Given the description of an element on the screen output the (x, y) to click on. 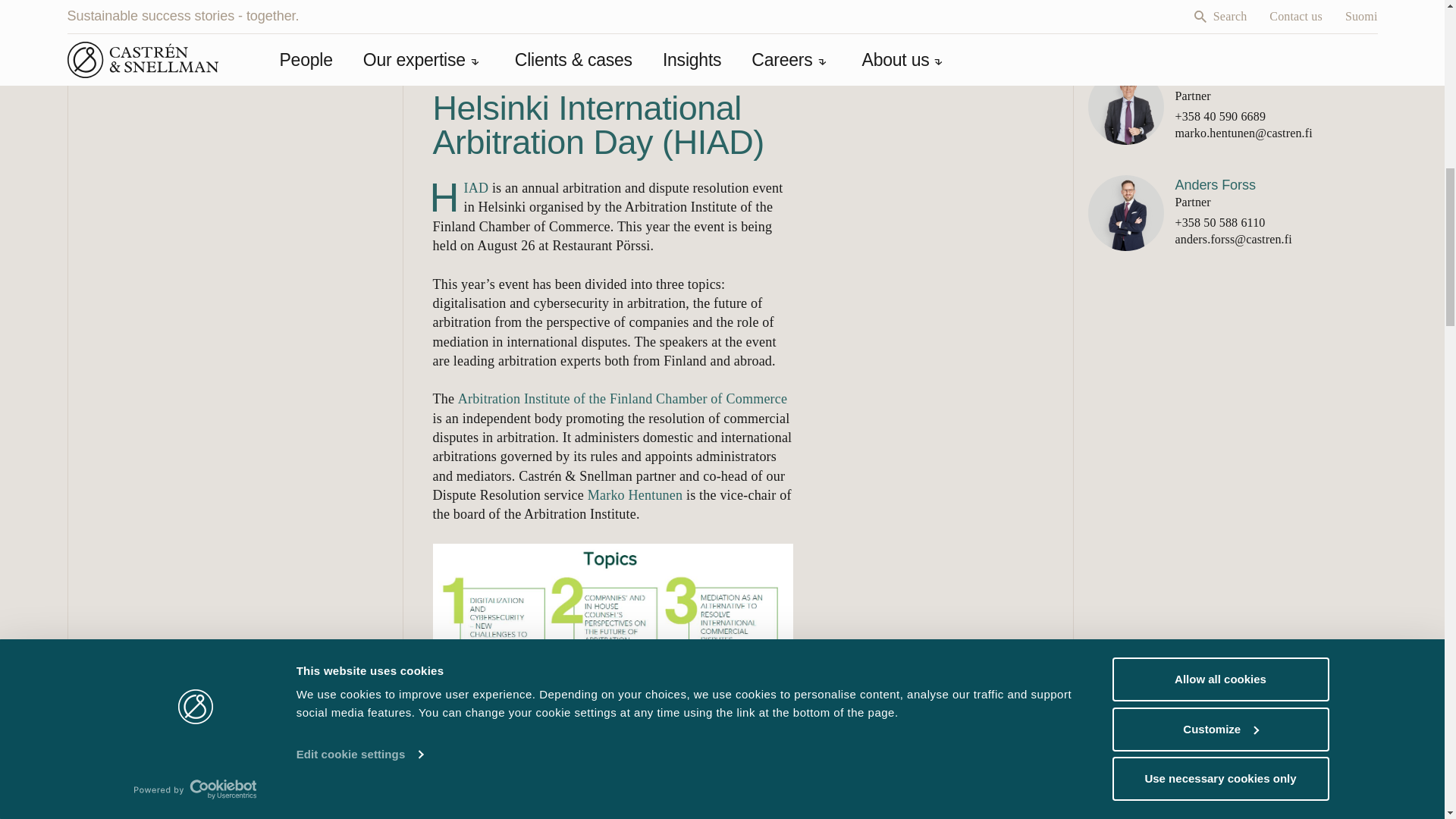
HIAD (459, 195)
Marko Hentunen (635, 494)
